Given the description of an element on the screen output the (x, y) to click on. 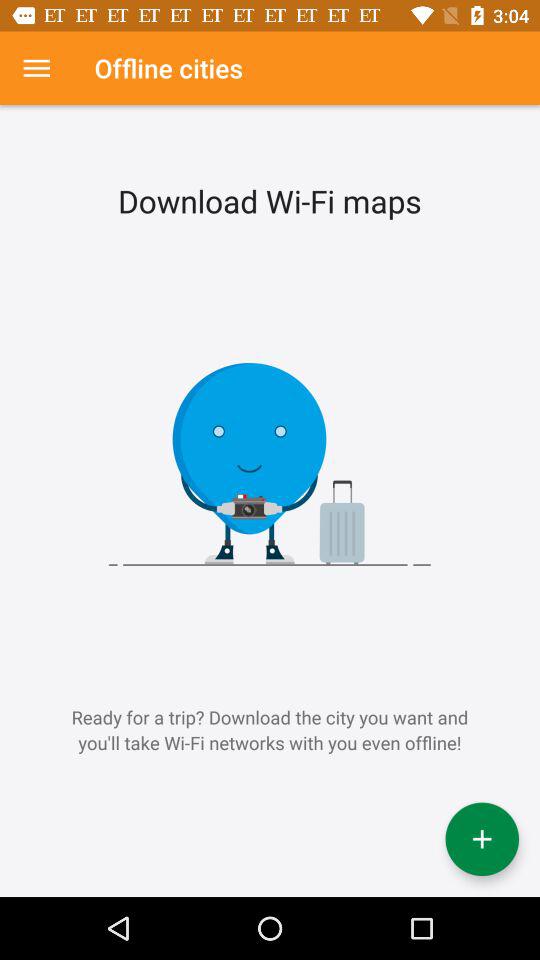
menu (36, 68)
